Given the description of an element on the screen output the (x, y) to click on. 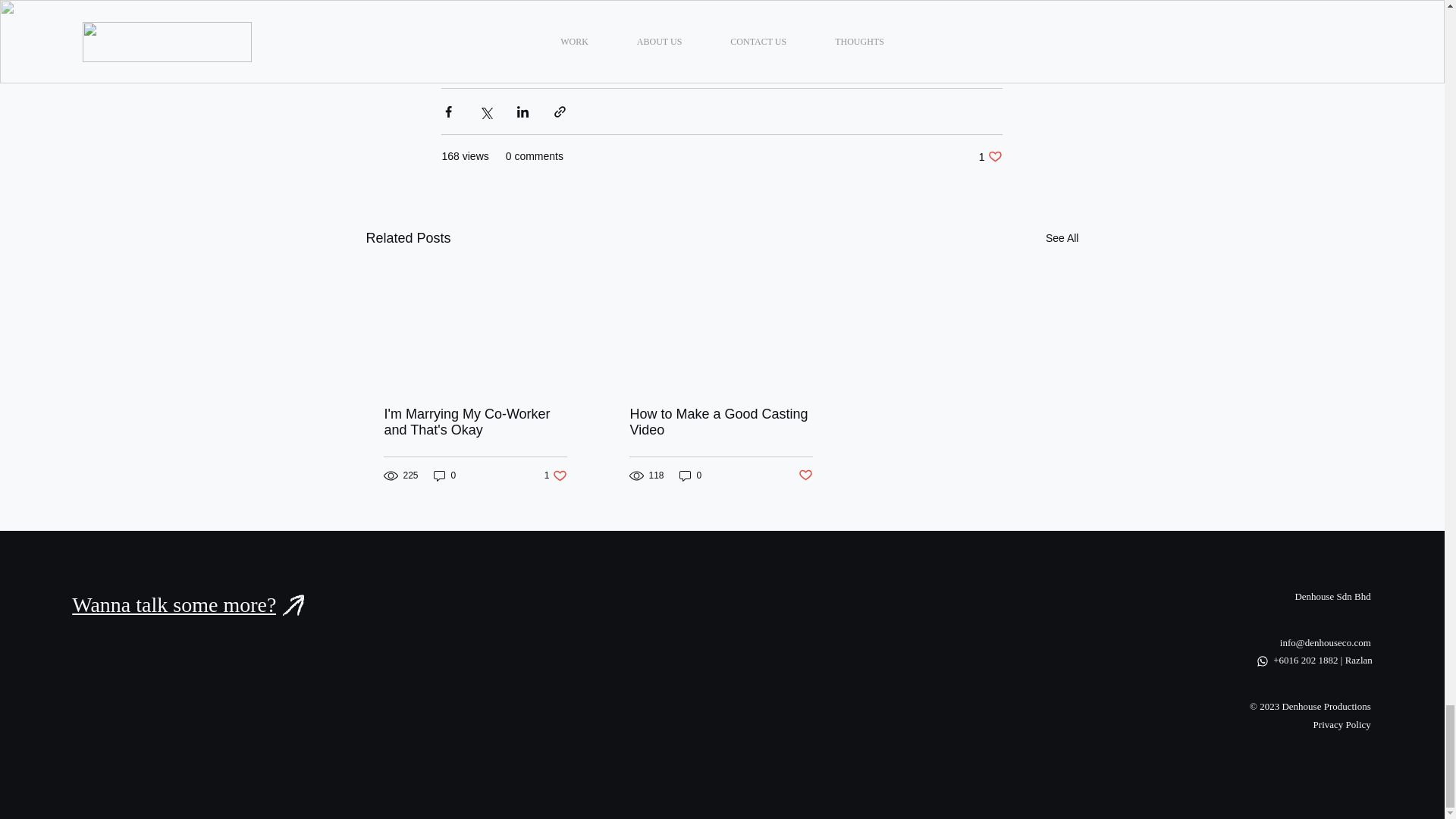
creative freedom (575, 1)
sunsilk (659, 1)
harry potter (479, 1)
commercial director (751, 1)
